Given the description of an element on the screen output the (x, y) to click on. 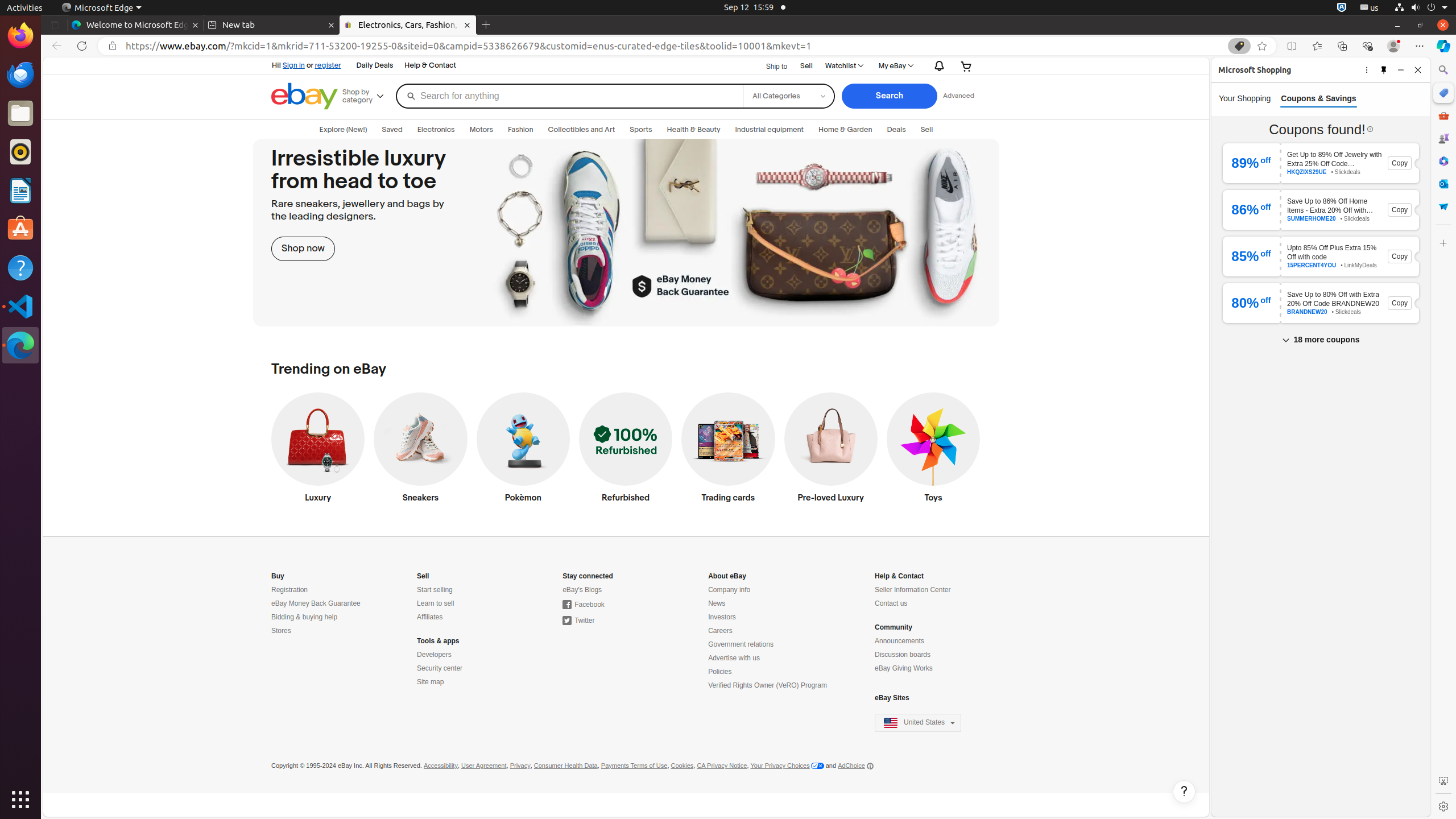
Settings Element type: push-button (1443, 806)
Microsoft Edge Element type: push-button (20, 344)
89 % off Get Up to 89% Off Jewelry with Extra 25% Off Code HKQZIXS29UE HKQZIXS29UE • Slickdeals Copy Element type: push-button (1320, 163)
Help Element type: push-button (20, 267)
Daily Deals Element type: link (374, 65)
